Given the description of an element on the screen output the (x, y) to click on. 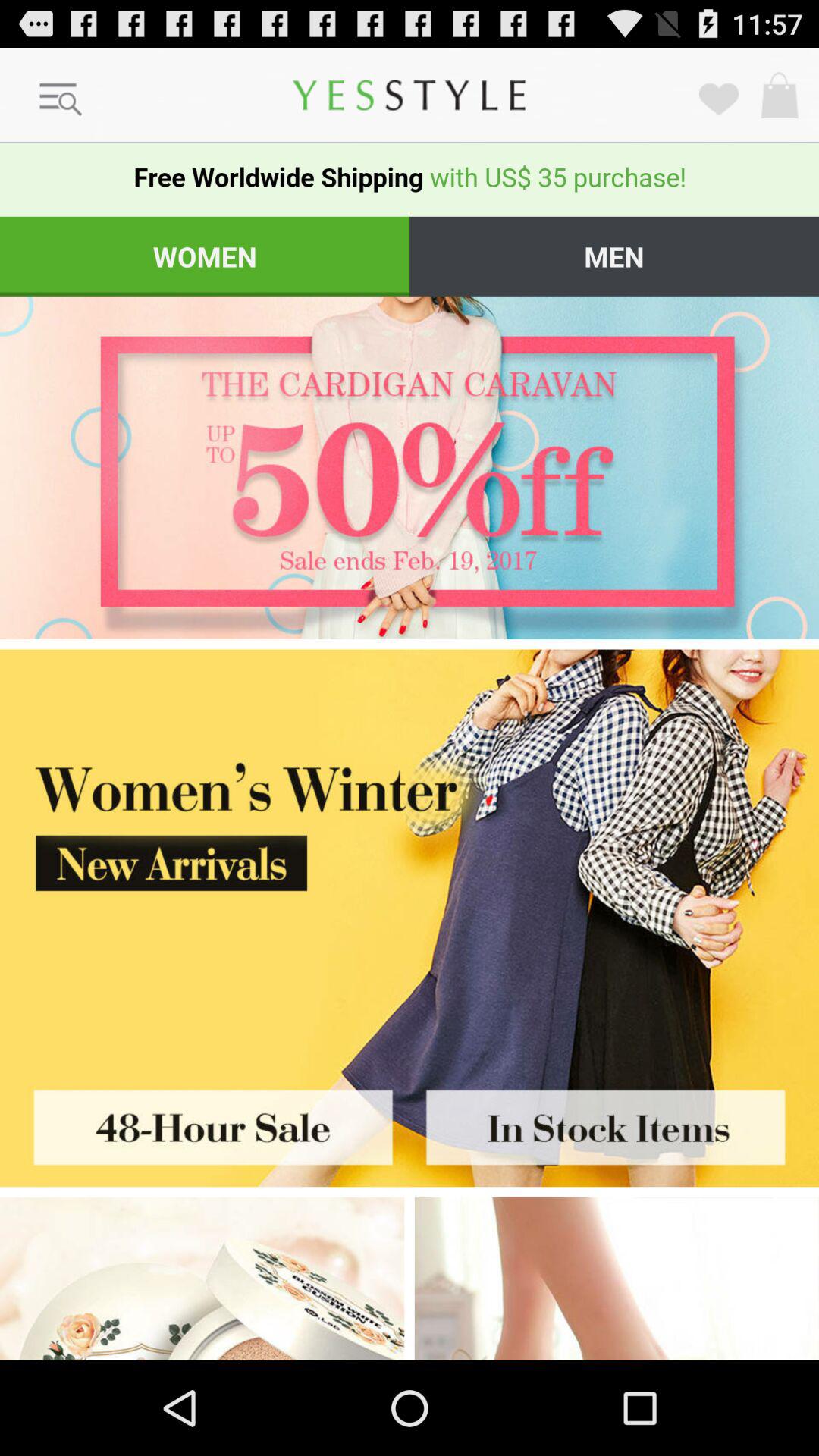
stock items checking click button (614, 1122)
